Given the description of an element on the screen output the (x, y) to click on. 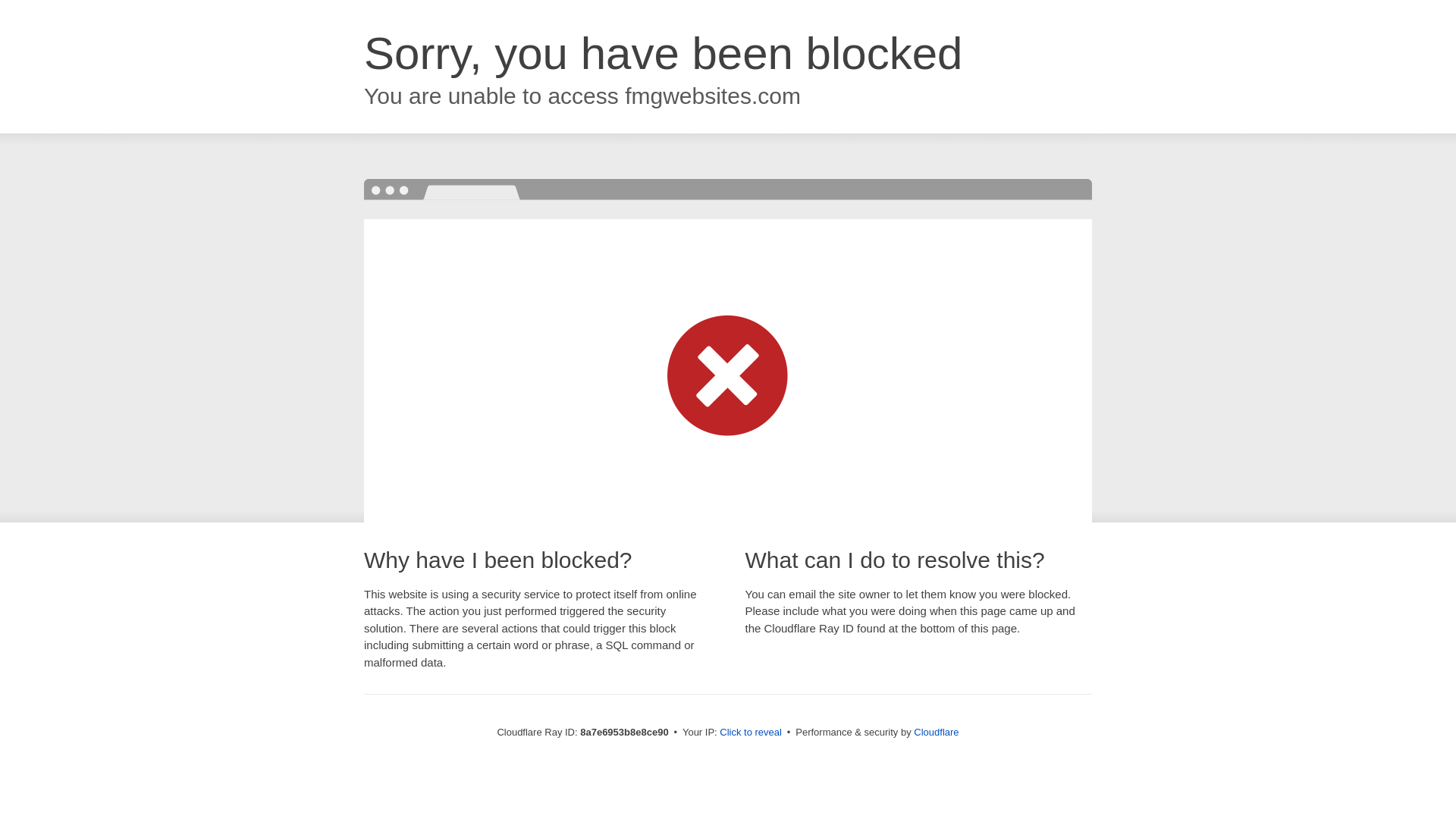
Cloudflare (936, 731)
Click to reveal (750, 732)
